Given the description of an element on the screen output the (x, y) to click on. 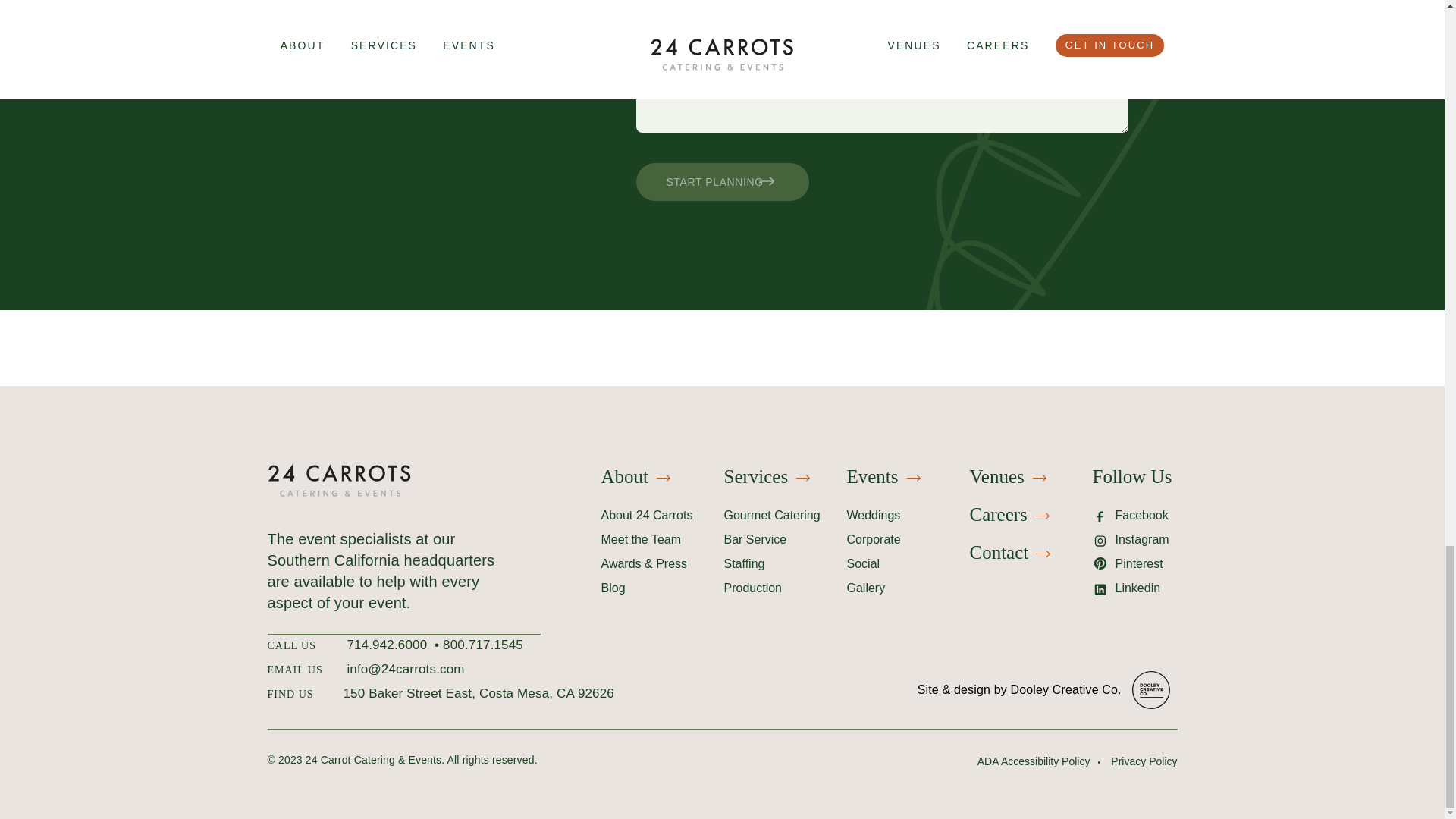
Start Planning (721, 181)
